Given the description of an element on the screen output the (x, y) to click on. 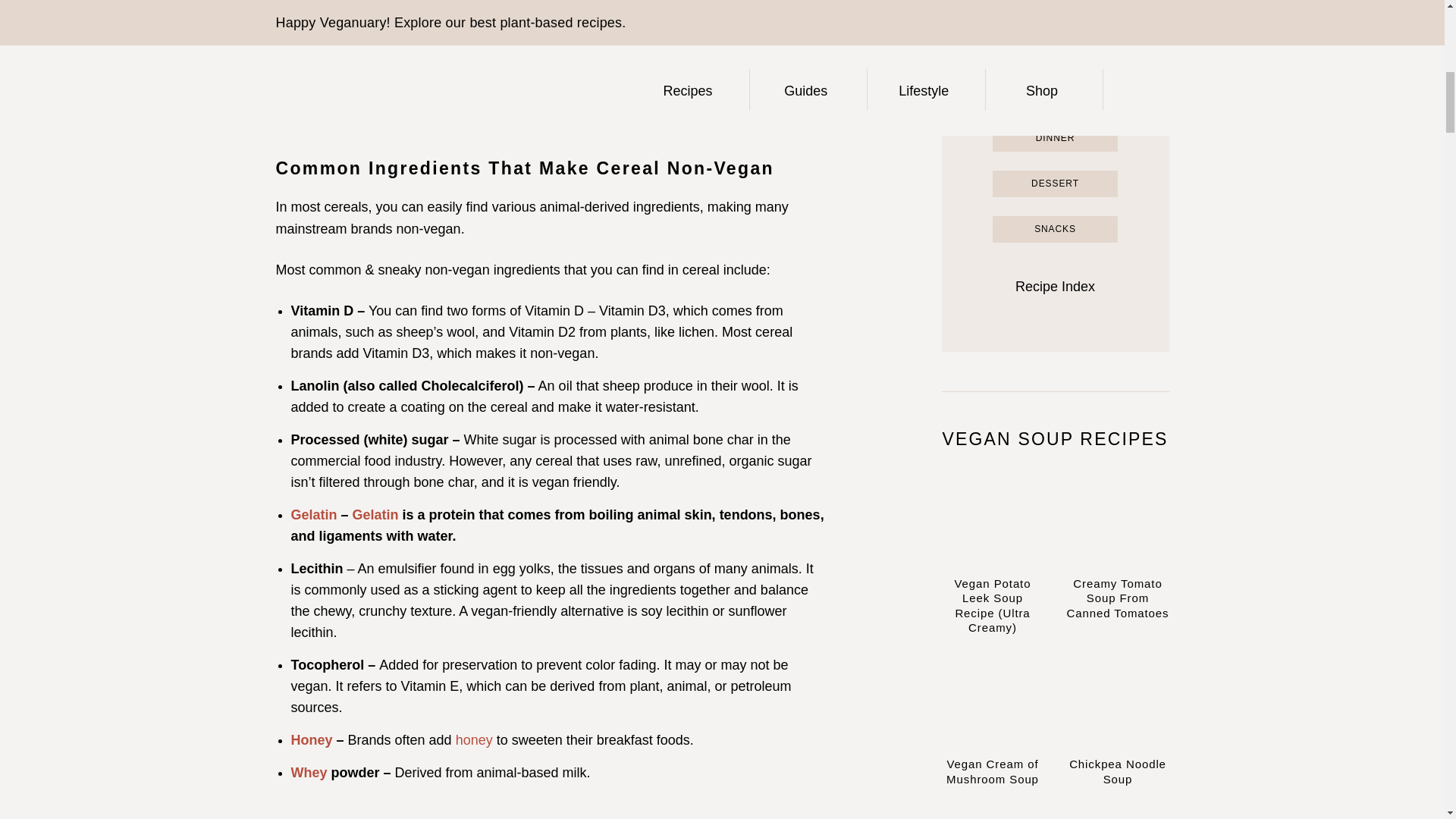
Whey (309, 772)
